Given the description of an element on the screen output the (x, y) to click on. 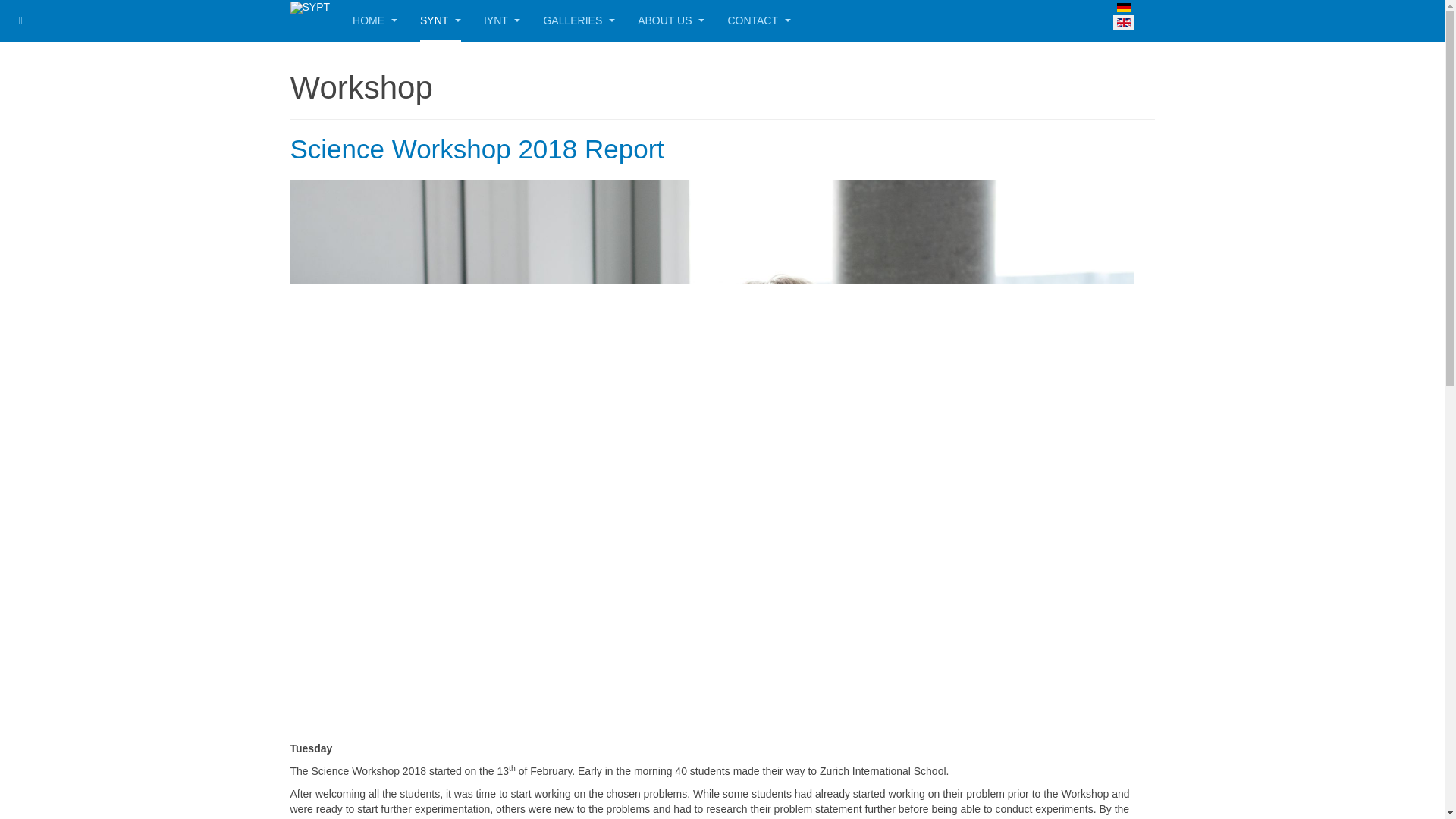
Log in (33, 391)
Science Workshop 2018 Report  (476, 148)
HOME (374, 20)
Deutsch  (1122, 7)
SYPT (309, 7)
IYNT (502, 20)
SYNT (440, 20)
GALLERIES (578, 20)
